Given the description of an element on the screen output the (x, y) to click on. 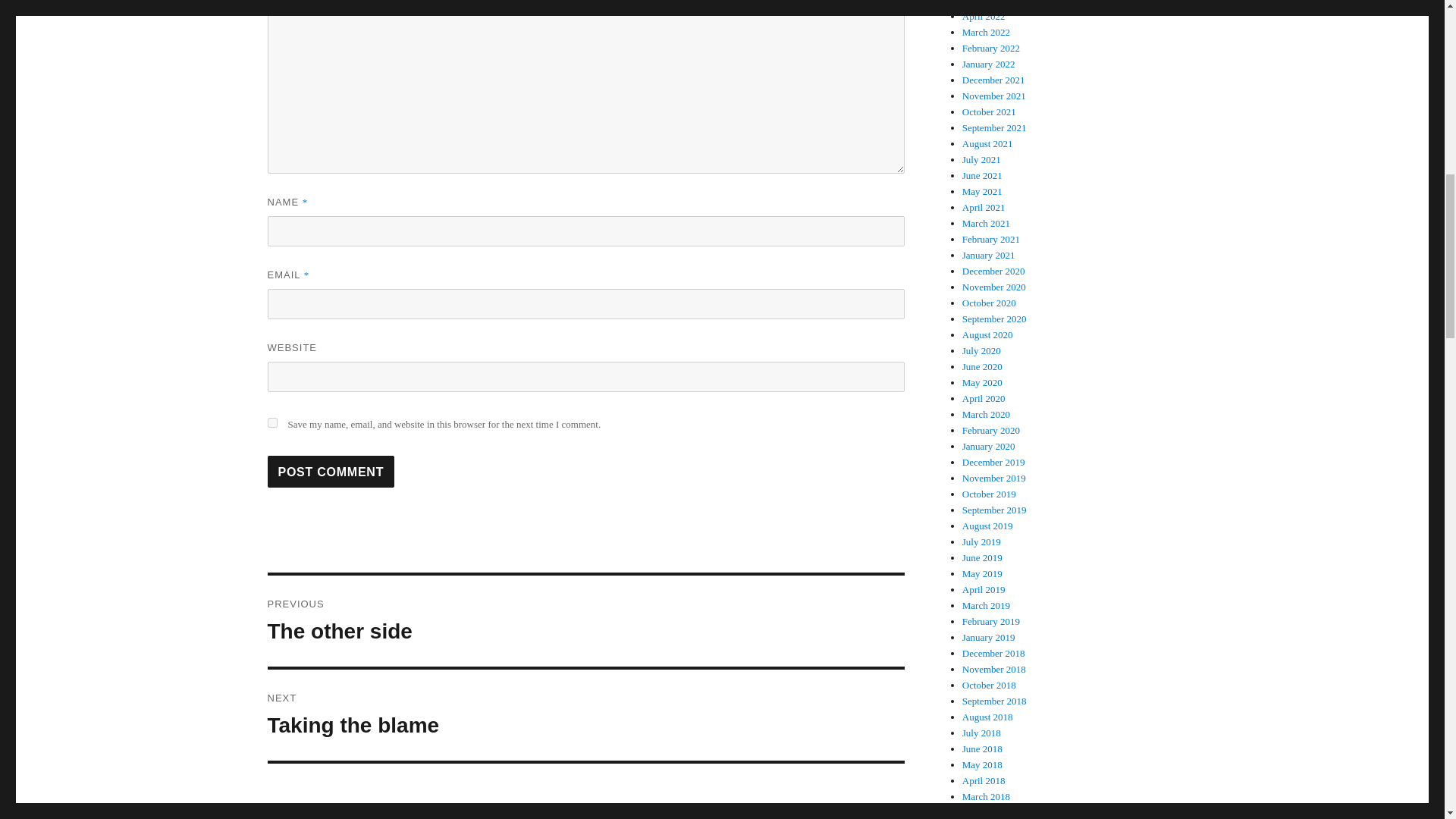
May 2022 (982, 2)
April 2022 (984, 16)
March 2022 (986, 31)
Post Comment (585, 714)
February 2022 (330, 471)
yes (585, 620)
Post Comment (991, 48)
